Given the description of an element on the screen output the (x, y) to click on. 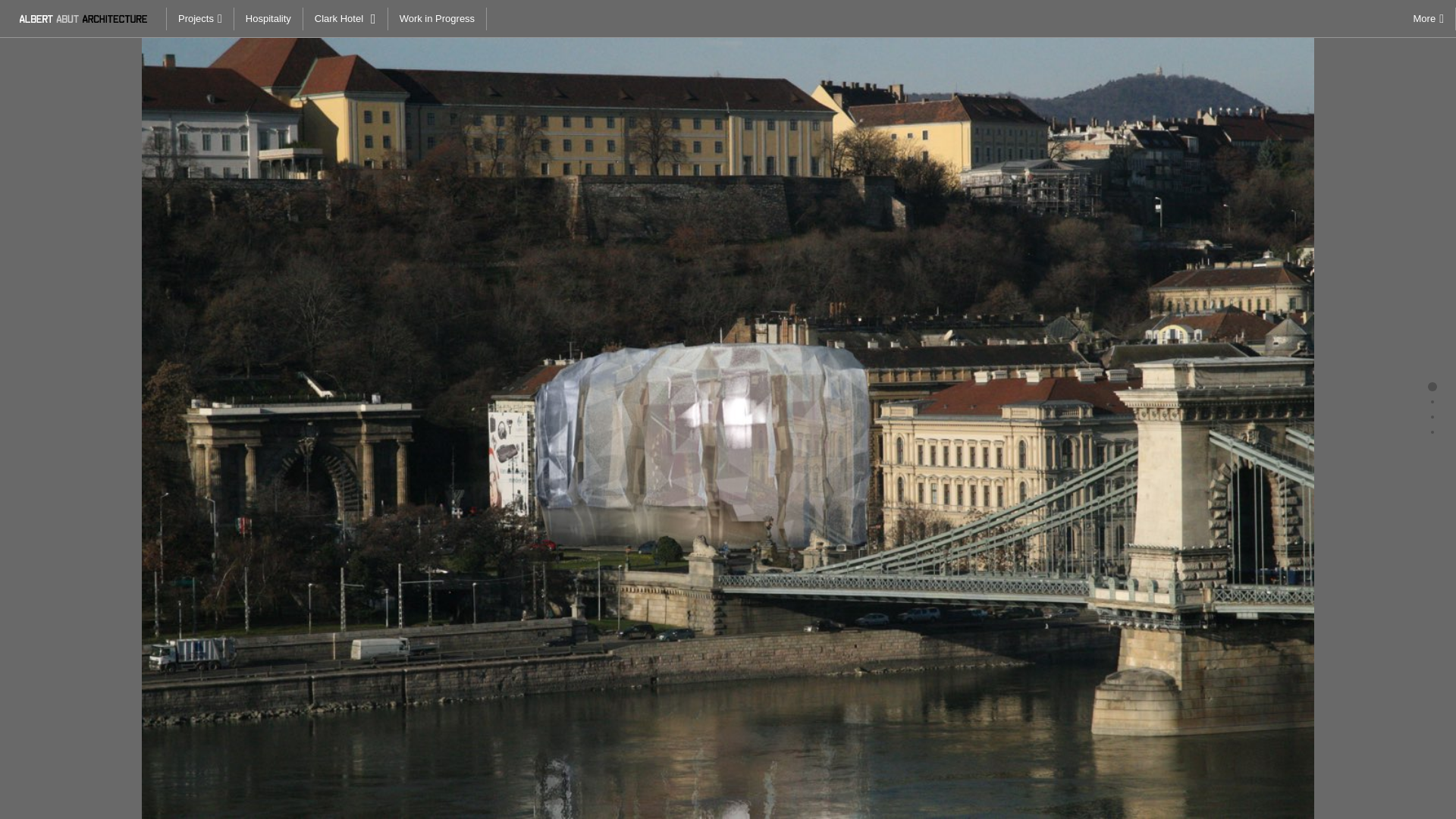
Hospitality (268, 18)
Work in Progress (436, 18)
